Given the description of an element on the screen output the (x, y) to click on. 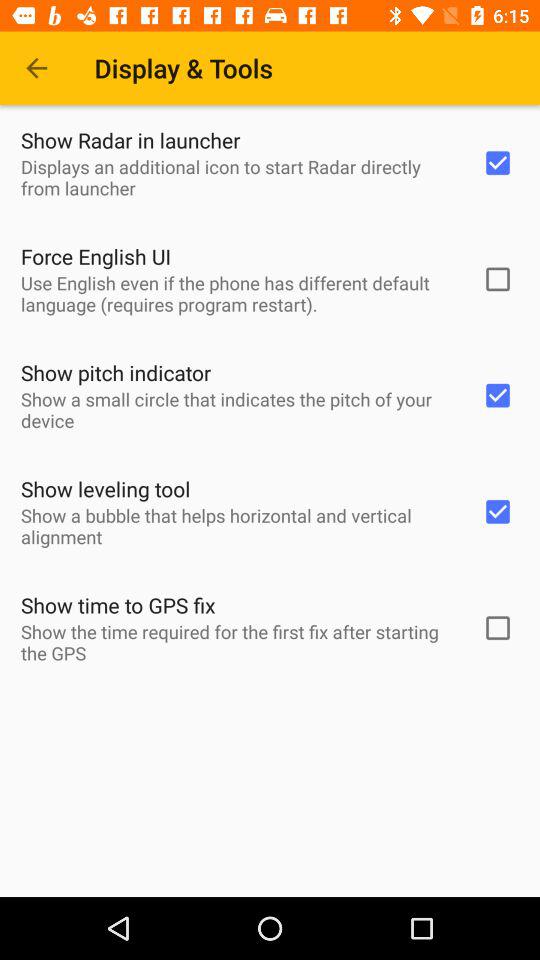
open the icon below the displays an additional (95, 256)
